Given the description of an element on the screen output the (x, y) to click on. 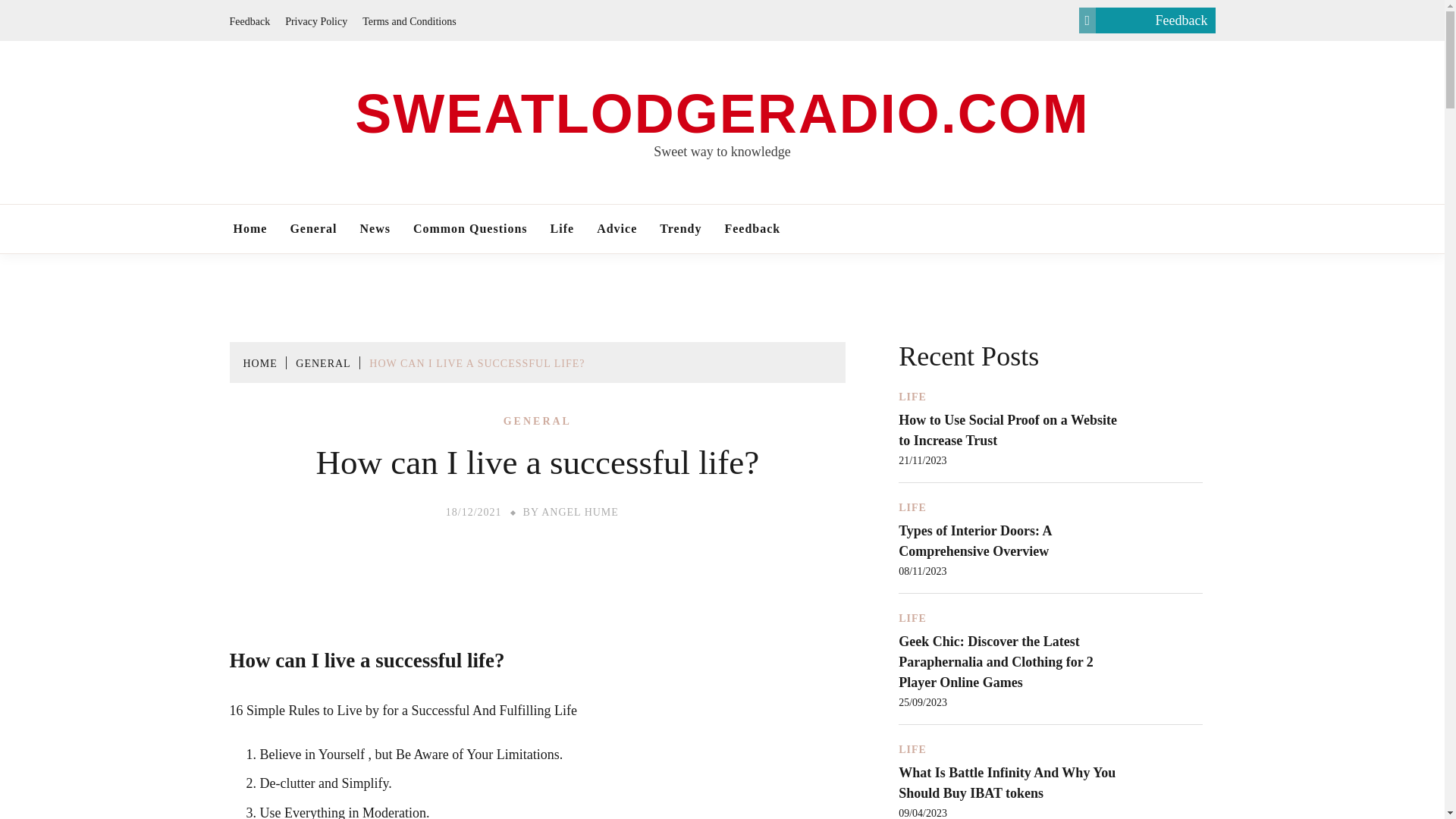
HOW CAN I LIVE A SUCCESSFUL LIFE? (477, 363)
Common Questions (470, 228)
LIFE (912, 618)
ANGEL HUME (579, 511)
Privacy Policy (316, 20)
Terms and Conditions (408, 20)
HOME (259, 363)
LIFE (912, 507)
Feedback (248, 20)
Home (249, 228)
News (374, 228)
Life (562, 228)
GENERAL (537, 421)
Feedback (752, 228)
Feedback (1146, 20)
